Given the description of an element on the screen output the (x, y) to click on. 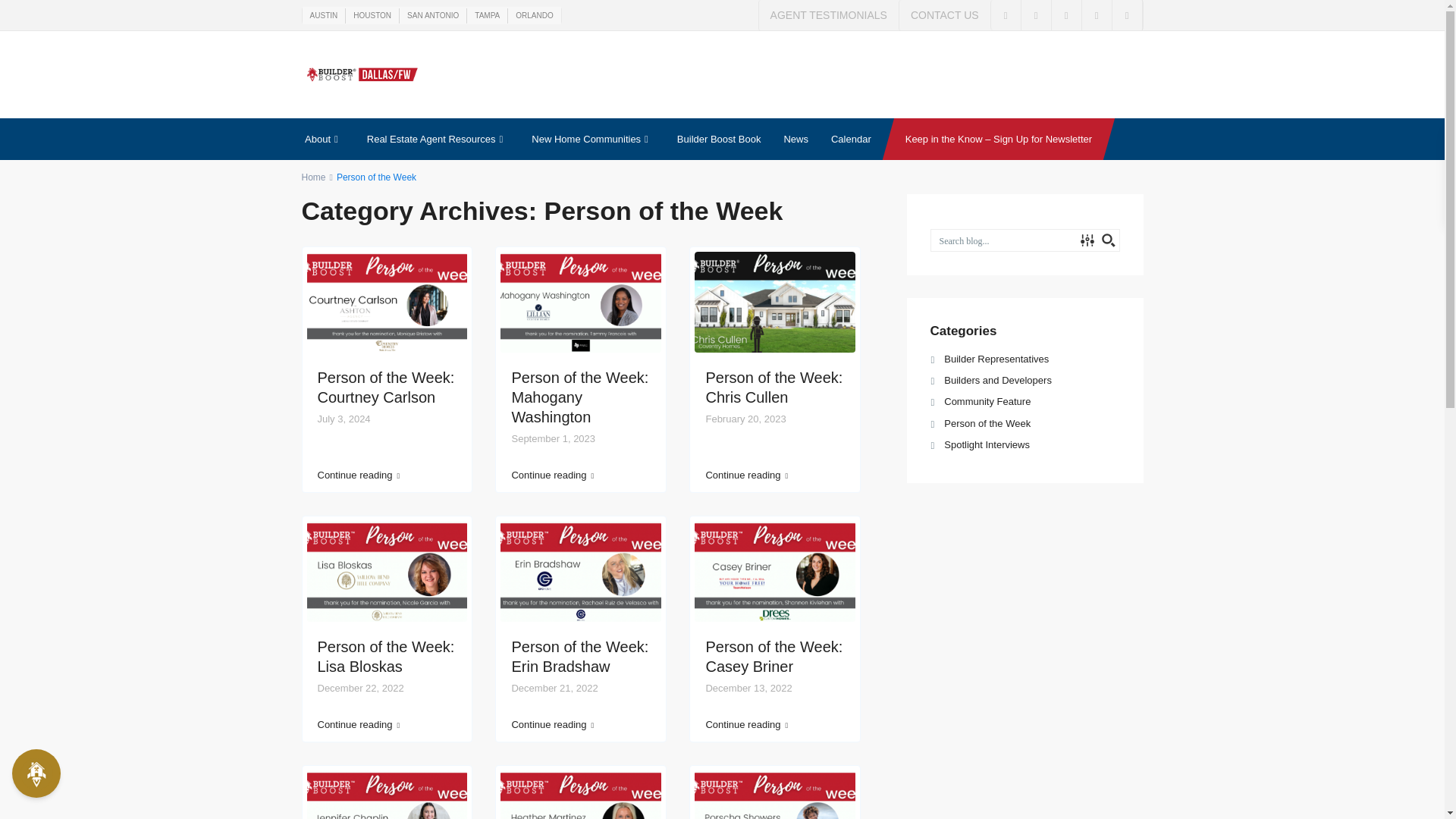
AGENT TESTIMONIALS (828, 14)
CONTACT US (944, 14)
TAMPA (486, 15)
SAN ANTONIO (431, 15)
ORLANDO (534, 15)
AUSTIN (324, 15)
HOUSTON (372, 15)
